Given the description of an element on the screen output the (x, y) to click on. 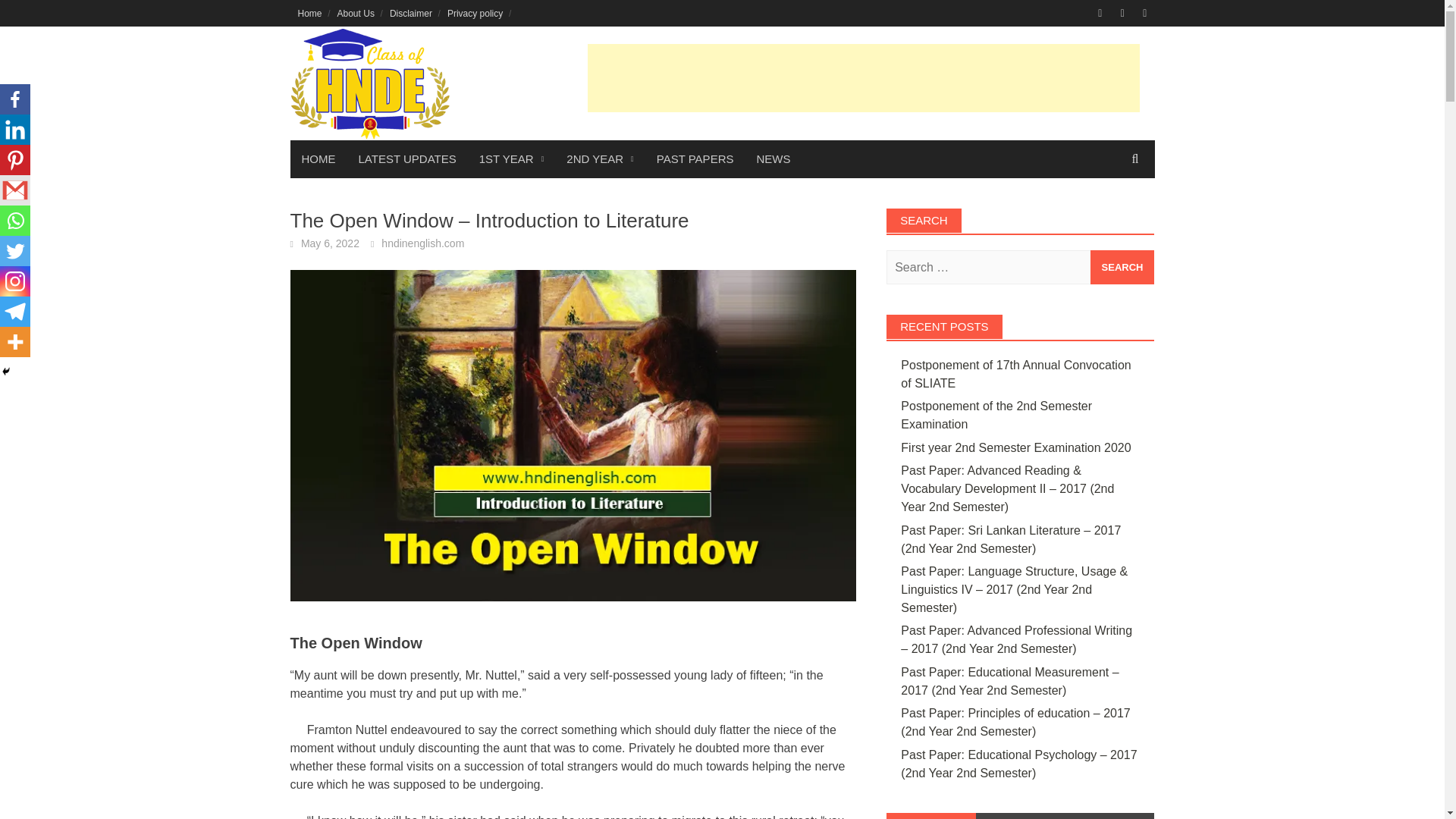
Search (1122, 267)
Advertisement (862, 78)
About Us (355, 13)
NEWS (773, 159)
2ND YEAR (599, 159)
Facebook (15, 99)
Disclaimer (410, 13)
PAST PAPERS (695, 159)
hndinenglish.com (422, 243)
LATEST UPDATES (407, 159)
